Given the description of an element on the screen output the (x, y) to click on. 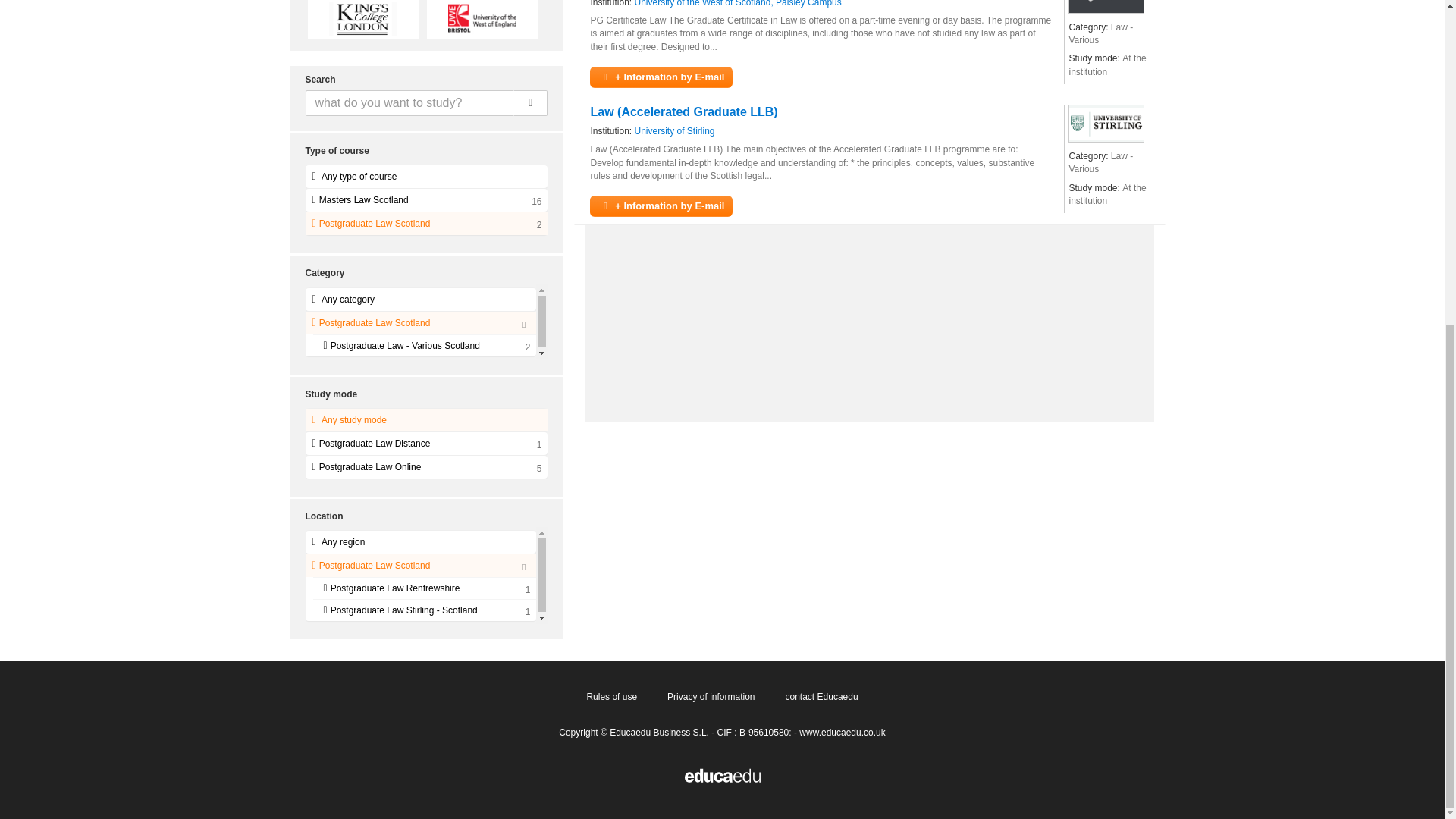
University of Stirling (1106, 123)
University of the West of Scotland, Paisley Campus (1106, 6)
University of the West of Scotland, Paisley Campus (737, 4)
Any type of course (425, 176)
University of the West of Scotland, Paisley Campus (737, 4)
Masters Law Scotland (425, 200)
University of Stirling (674, 131)
University of Stirling (674, 131)
